Given the description of an element on the screen output the (x, y) to click on. 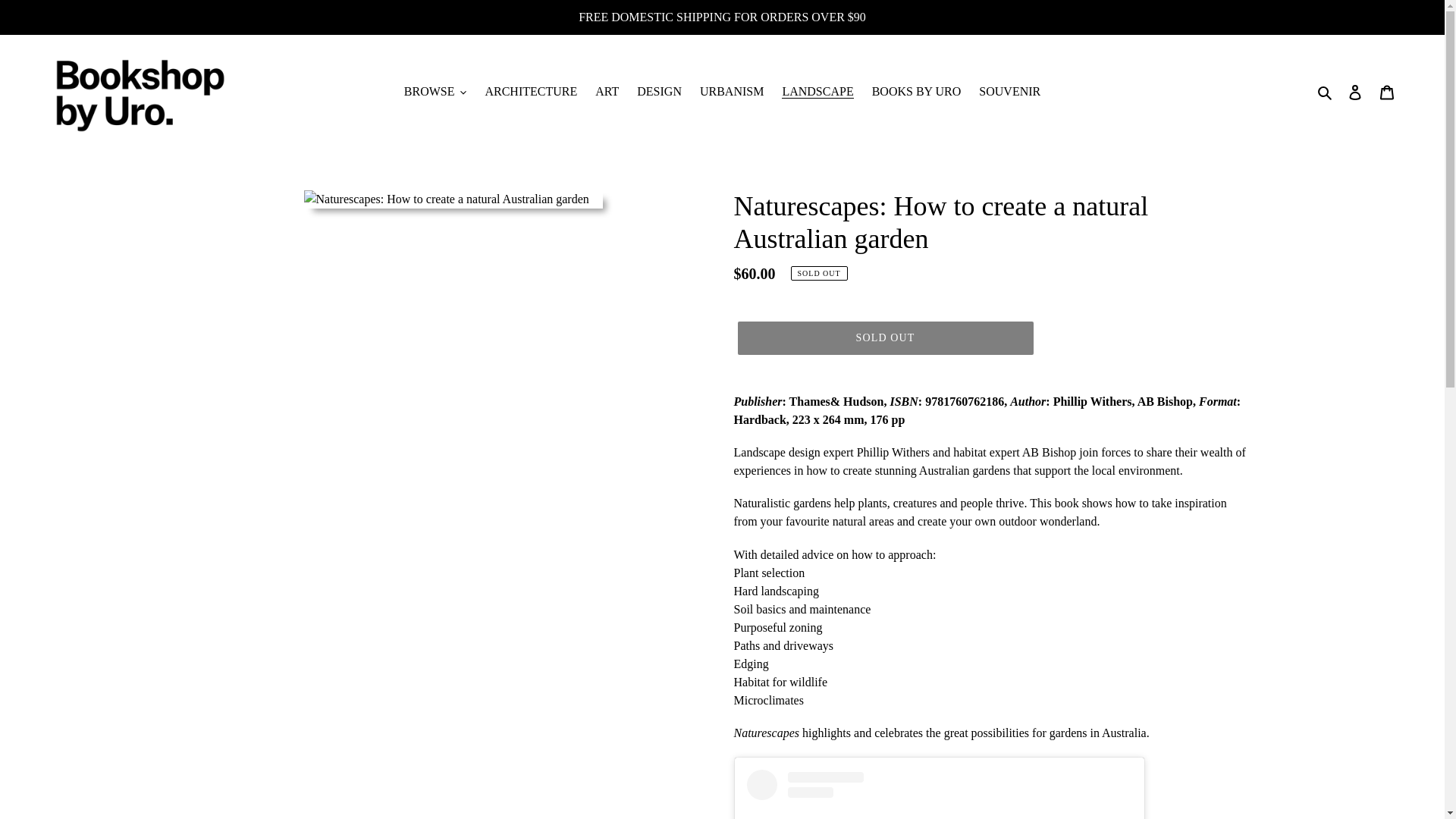
DESIGN (658, 91)
Search (1326, 91)
ART (607, 91)
Log in (1355, 91)
BOOKS BY URO (916, 91)
LANDSCAPE (817, 91)
ARCHITECTURE (531, 91)
BROWSE (435, 91)
SOUVENIR (1009, 91)
Cart (1387, 91)
